Given the description of an element on the screen output the (x, y) to click on. 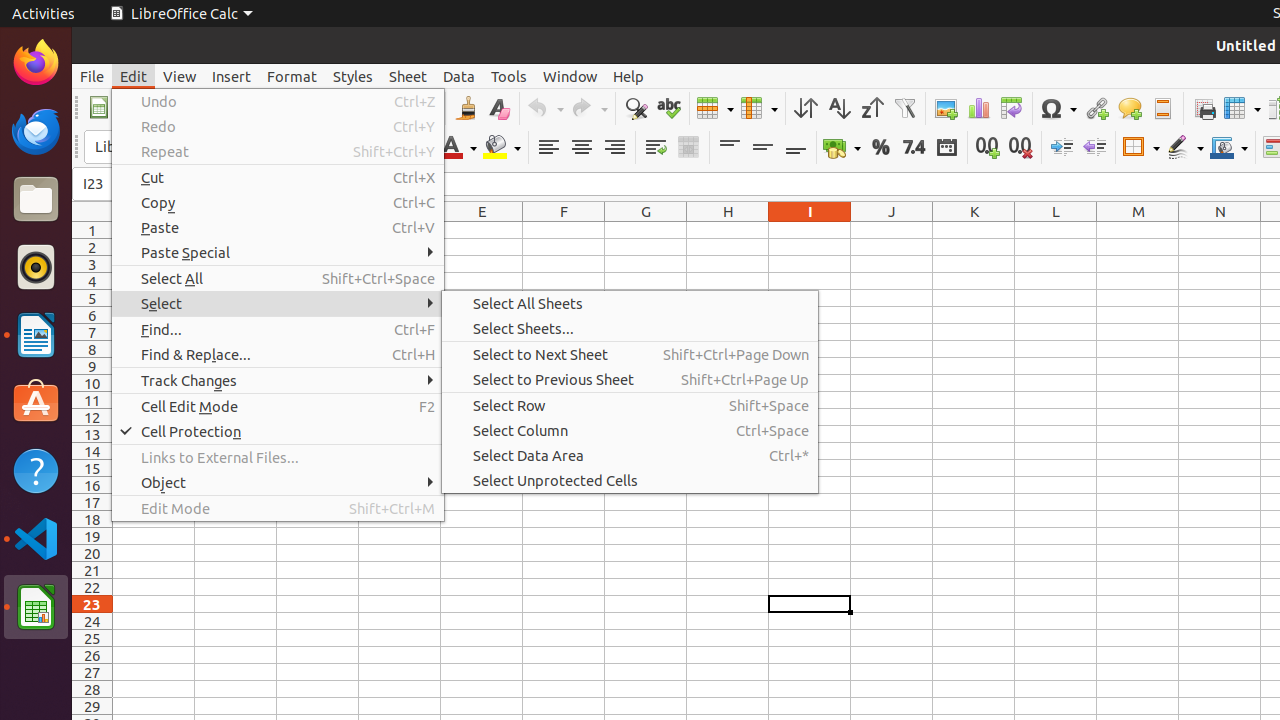
Paste Element type: menu-item (278, 227)
H1 Element type: table-cell (728, 230)
Comment Element type: push-button (1129, 108)
F1 Element type: table-cell (564, 230)
Redo Element type: menu-item (278, 126)
